Given the description of an element on the screen output the (x, y) to click on. 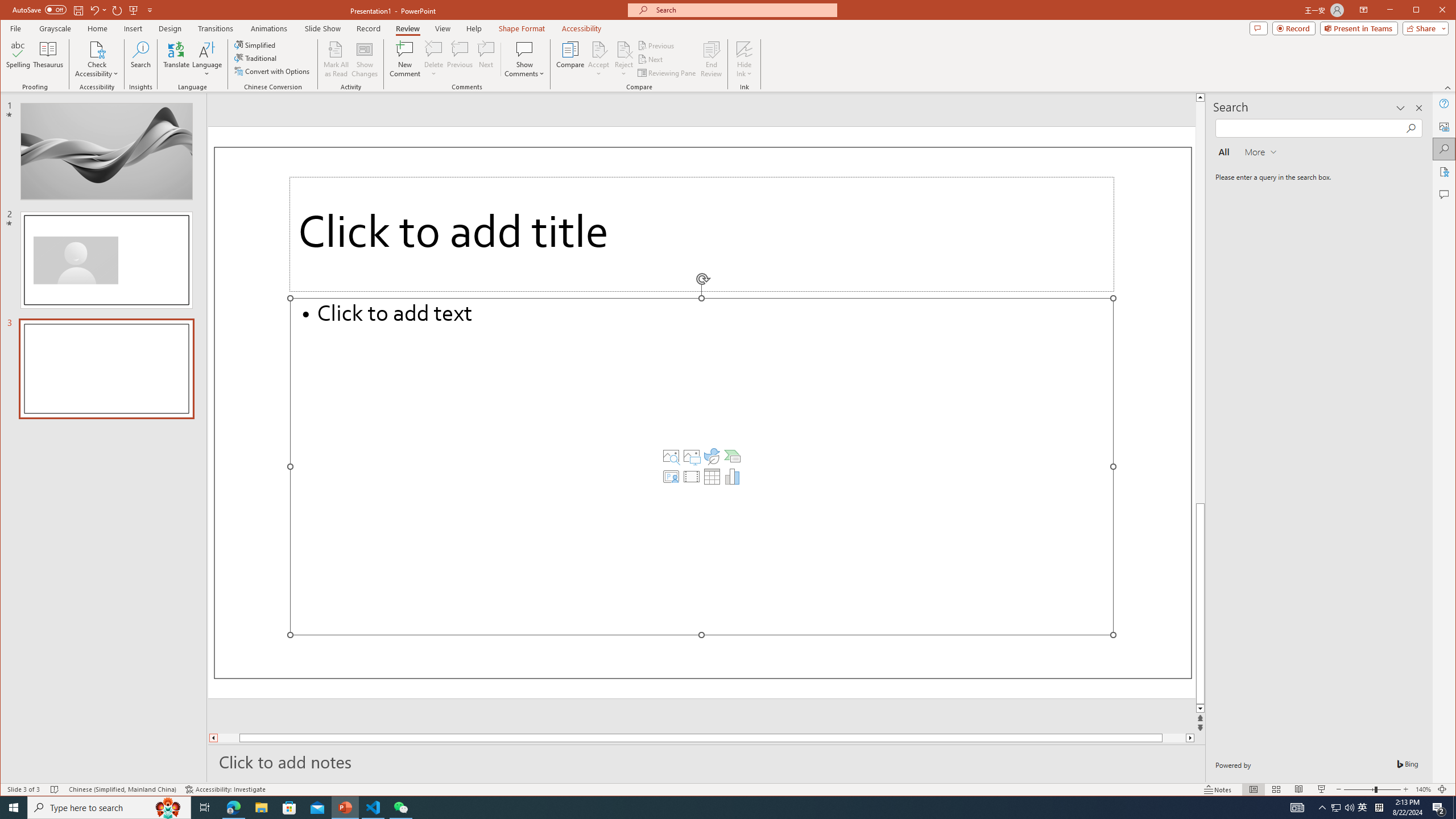
Traditional (256, 57)
Insert an Icon (711, 456)
